Given the description of an element on the screen output the (x, y) to click on. 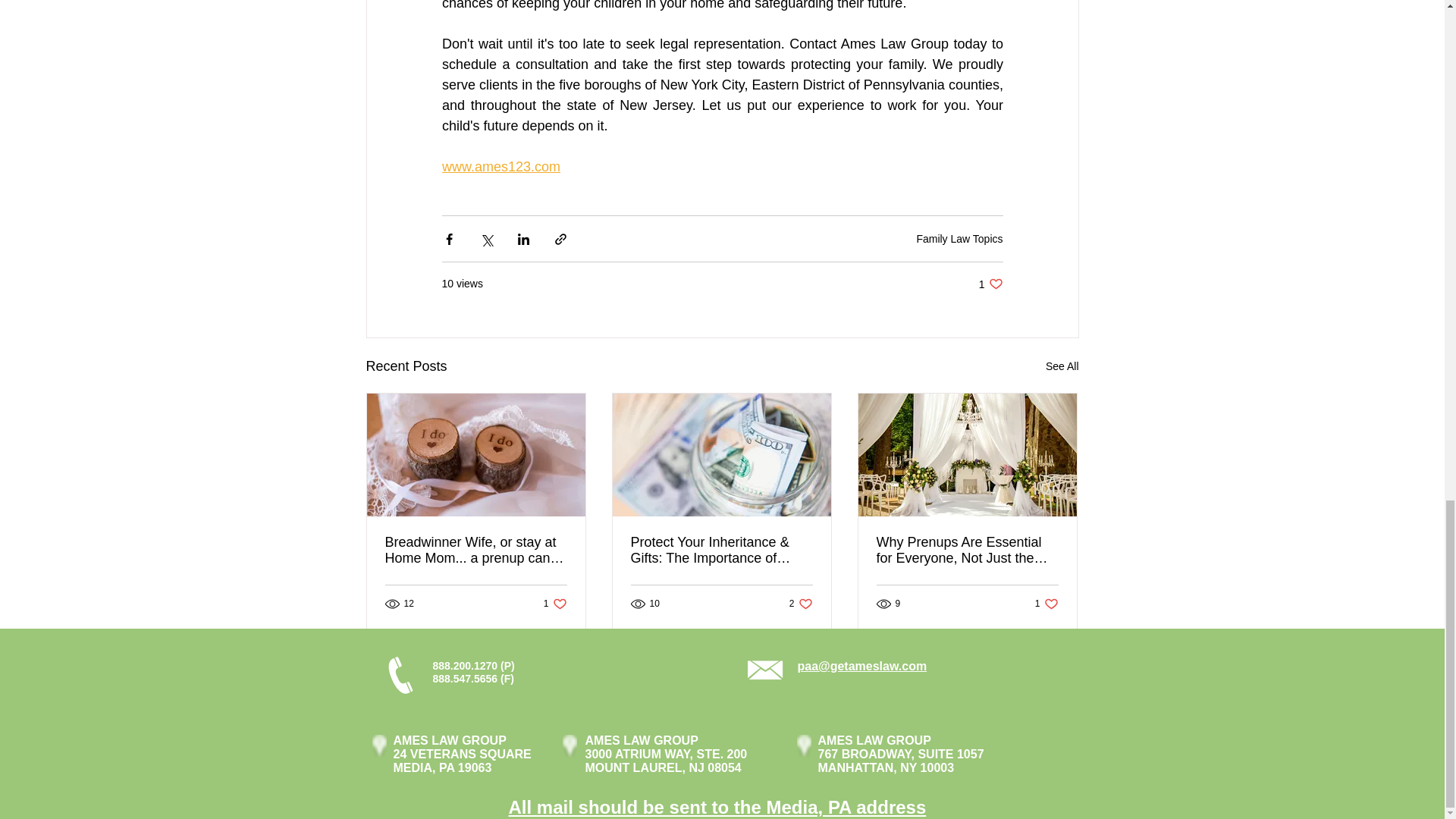
www.ames123.com (500, 166)
See All (555, 603)
Family Law Topics (1046, 603)
Why Prenups Are Essential for Everyone, Not Just the Wealthy (1061, 366)
